Given the description of an element on the screen output the (x, y) to click on. 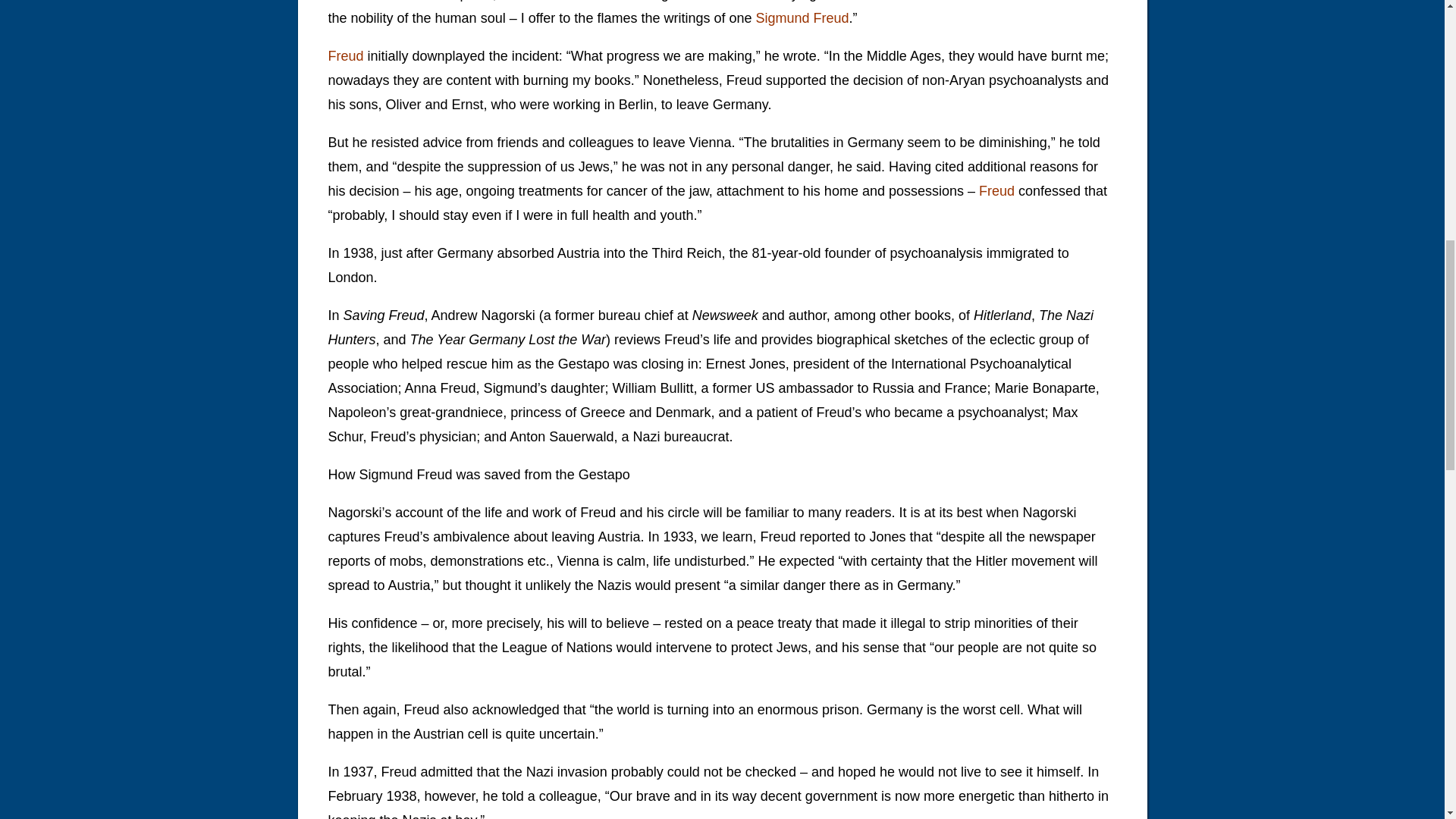
Sigmund Freud (801, 17)
Freud (344, 55)
Freud (996, 191)
